Given the description of an element on the screen output the (x, y) to click on. 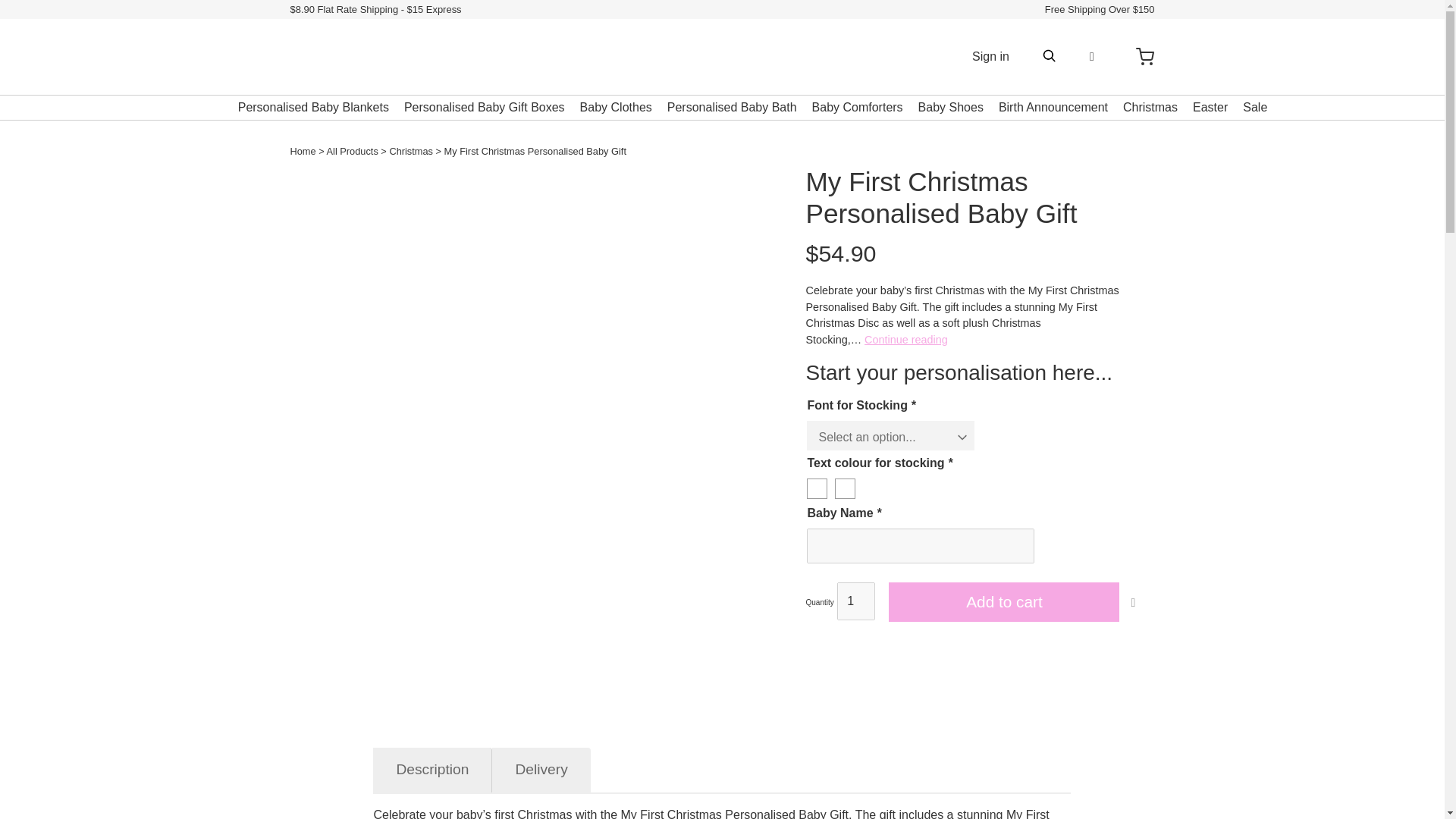
Christmas (1149, 106)
Sign in (990, 56)
Personalised Baby Bath (731, 106)
Easter (1209, 106)
Baby Comforters (857, 106)
Personalised Baby Gift Boxes (484, 106)
Continue reading (905, 339)
Christmas (410, 151)
All Products (352, 151)
Birth Announcement (1053, 106)
